Given the description of an element on the screen output the (x, y) to click on. 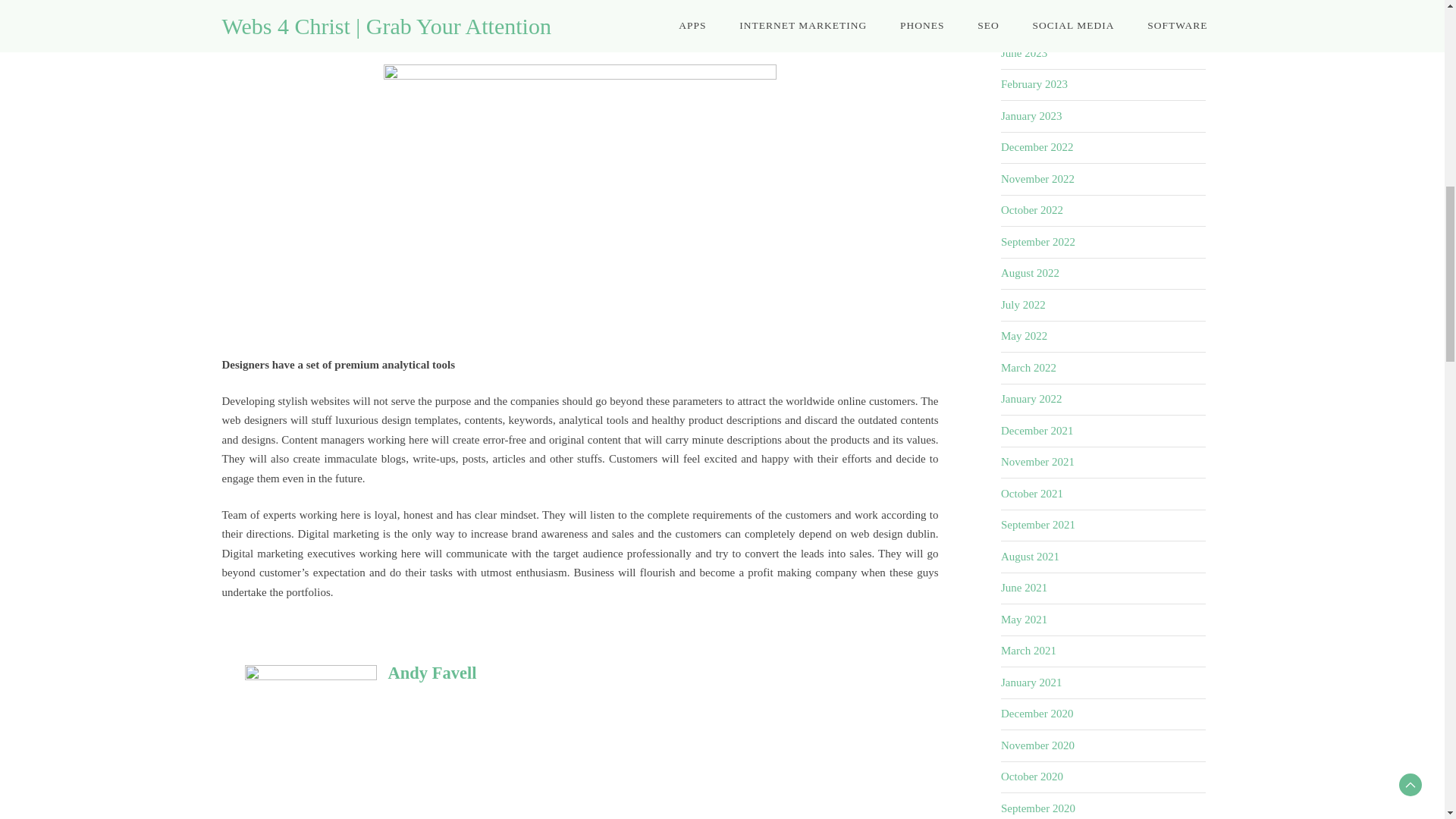
Andy Favell (432, 672)
web design dublin (442, 37)
